Given the description of an element on the screen output the (x, y) to click on. 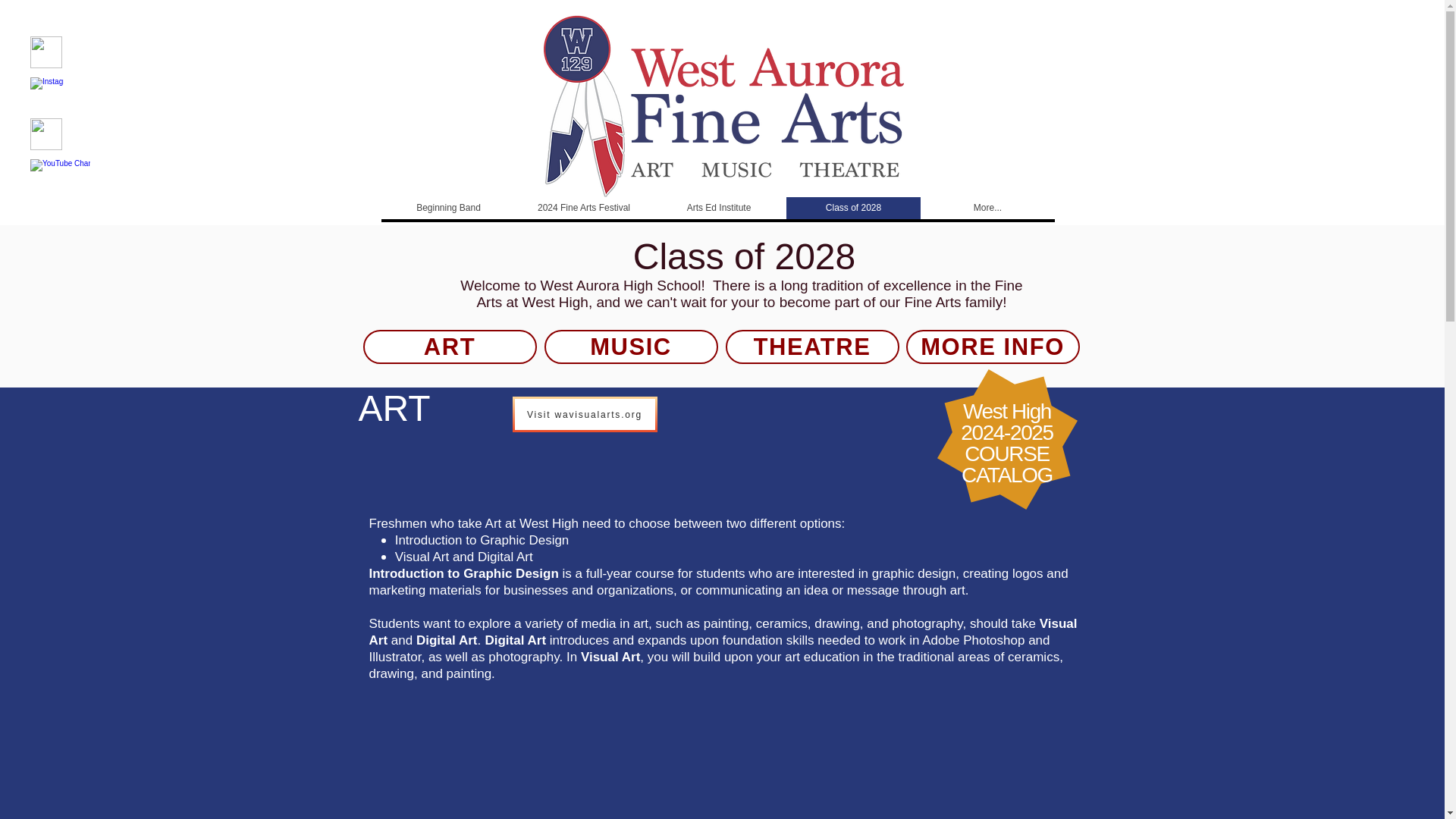
Arts Ed Institute (718, 208)
ART (448, 346)
Beginning Band (447, 208)
THEATRE (1006, 442)
MUSIC (811, 346)
Visit wavisualarts.org (630, 346)
2024 Fine Arts Festival (585, 414)
MORE INFO (582, 208)
Class of 2028 (991, 346)
